Given the description of an element on the screen output the (x, y) to click on. 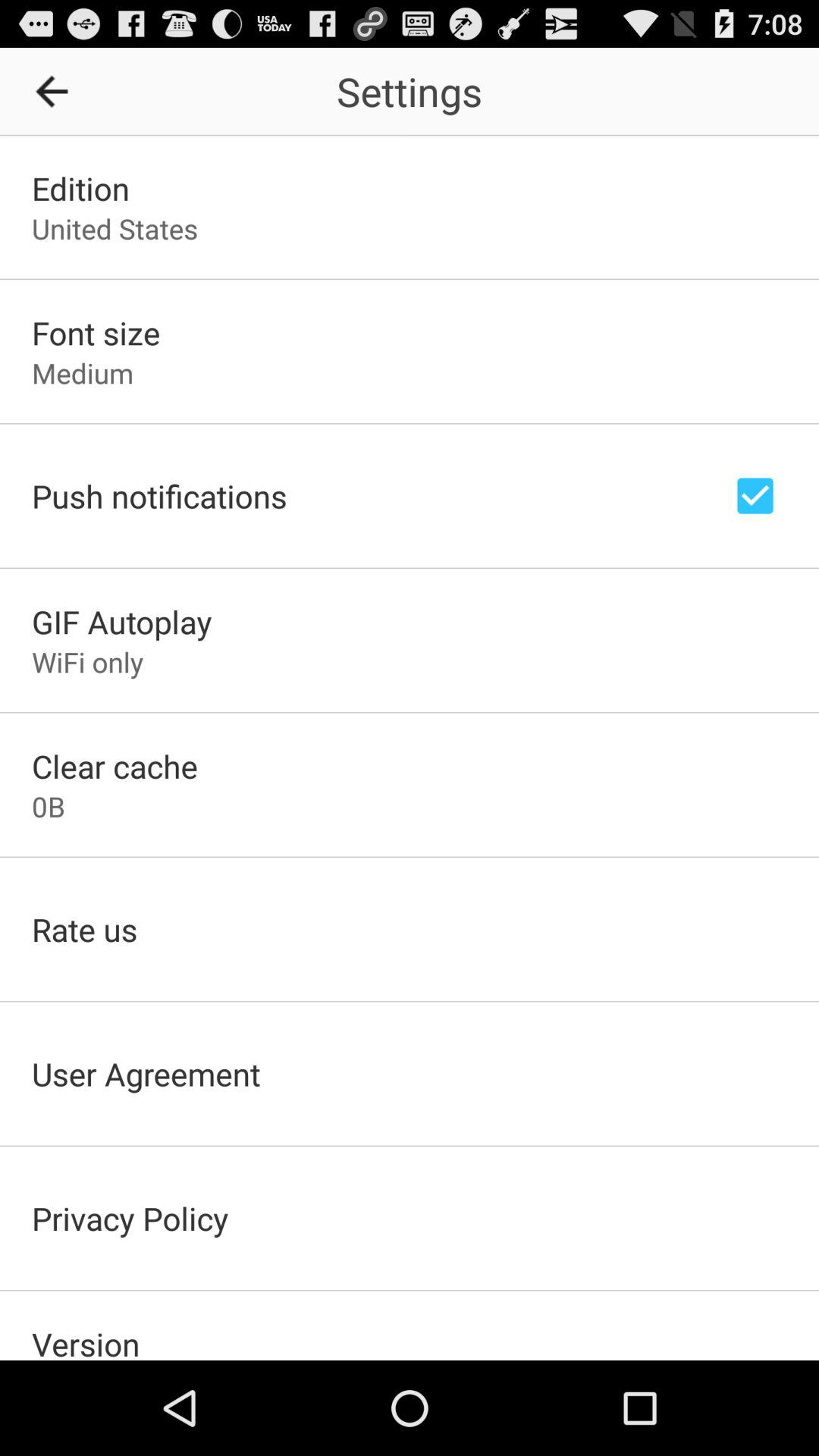
tick box (755, 495)
